Given the description of an element on the screen output the (x, y) to click on. 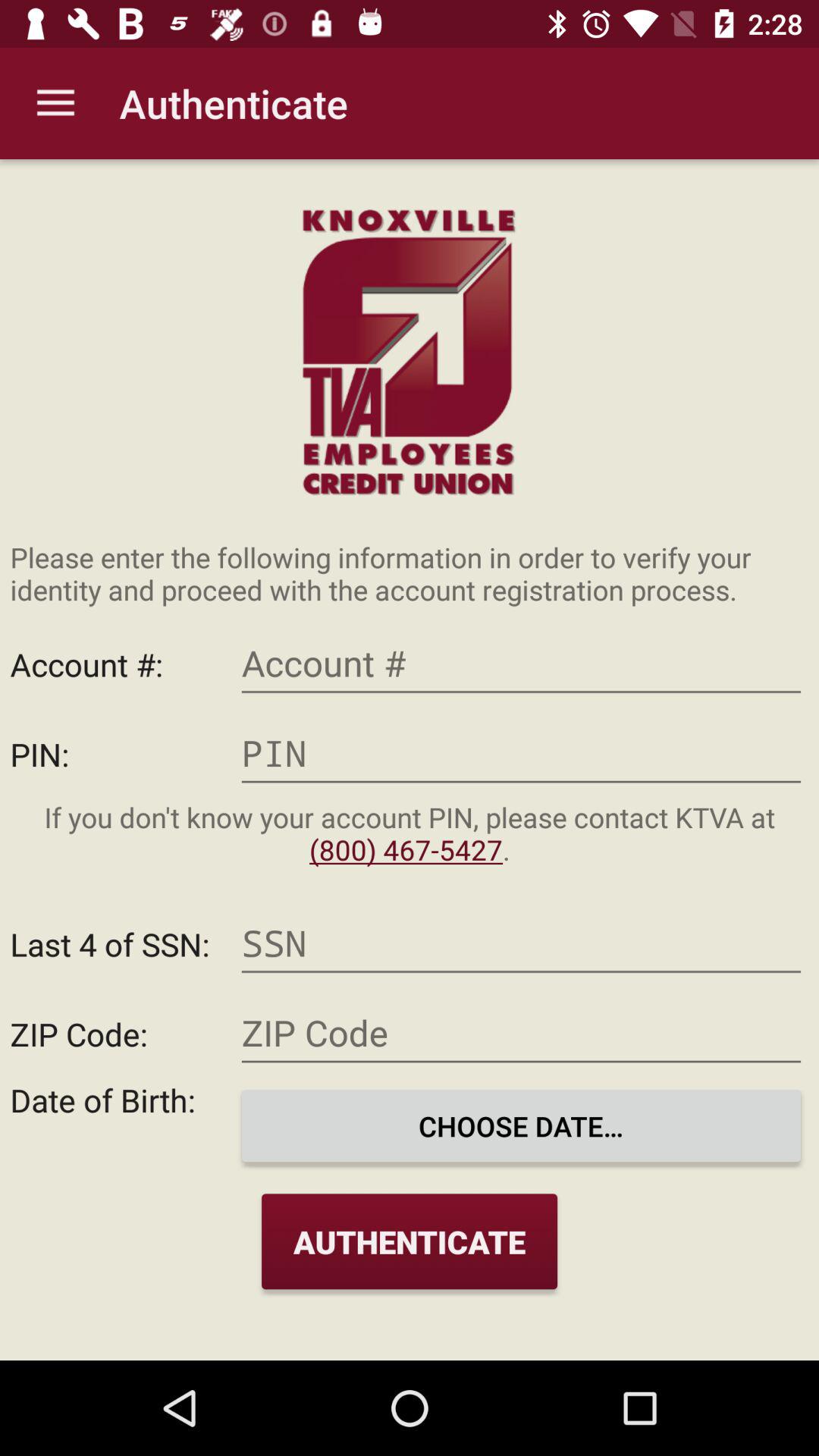
the button is used to create account (520, 663)
